Given the description of an element on the screen output the (x, y) to click on. 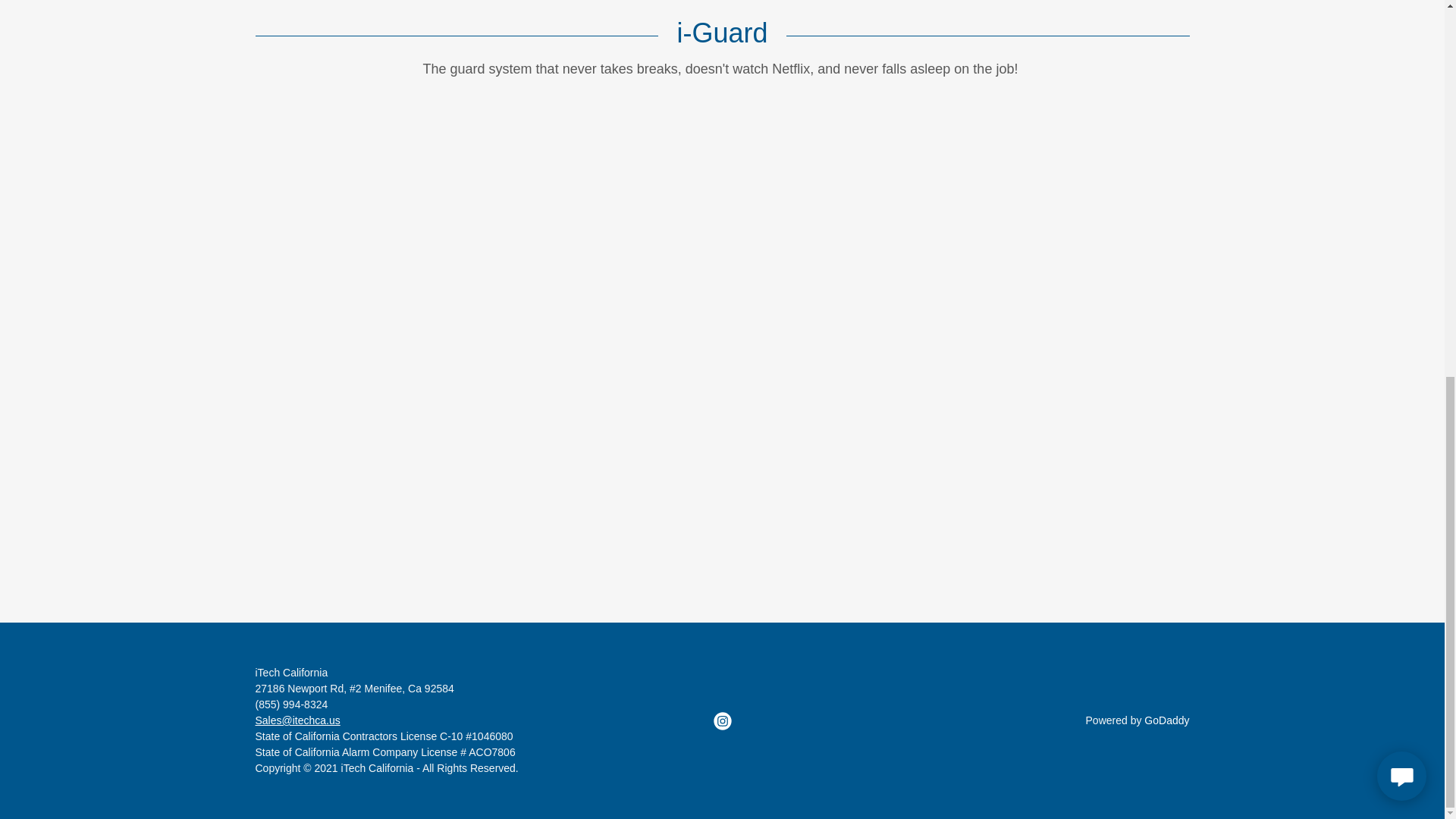
Decline (1203, 447)
Accept (1345, 447)
GoDaddy (1166, 720)
